Given the description of an element on the screen output the (x, y) to click on. 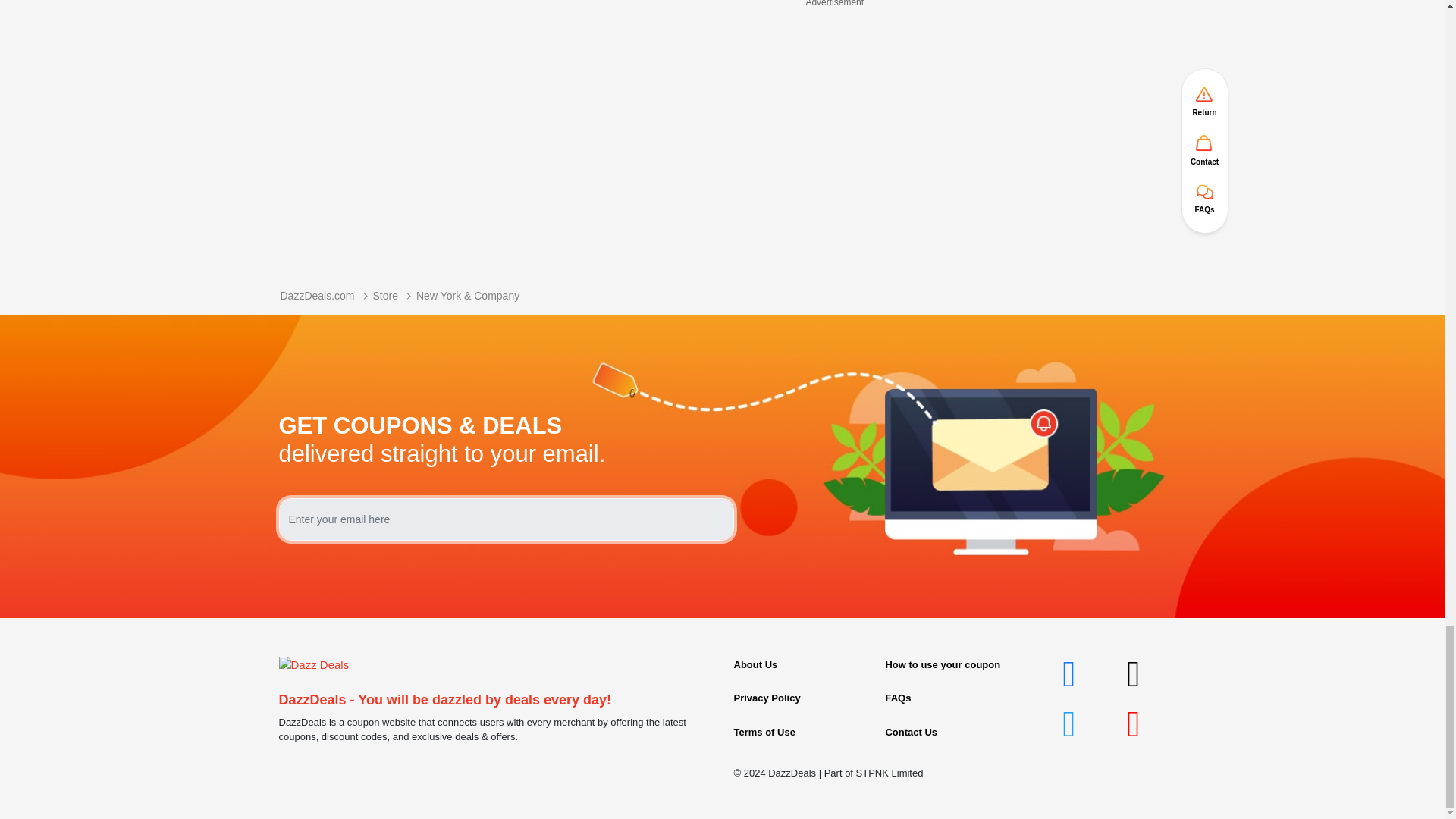
Dazzdeals.CoM (314, 663)
